Given the description of an element on the screen output the (x, y) to click on. 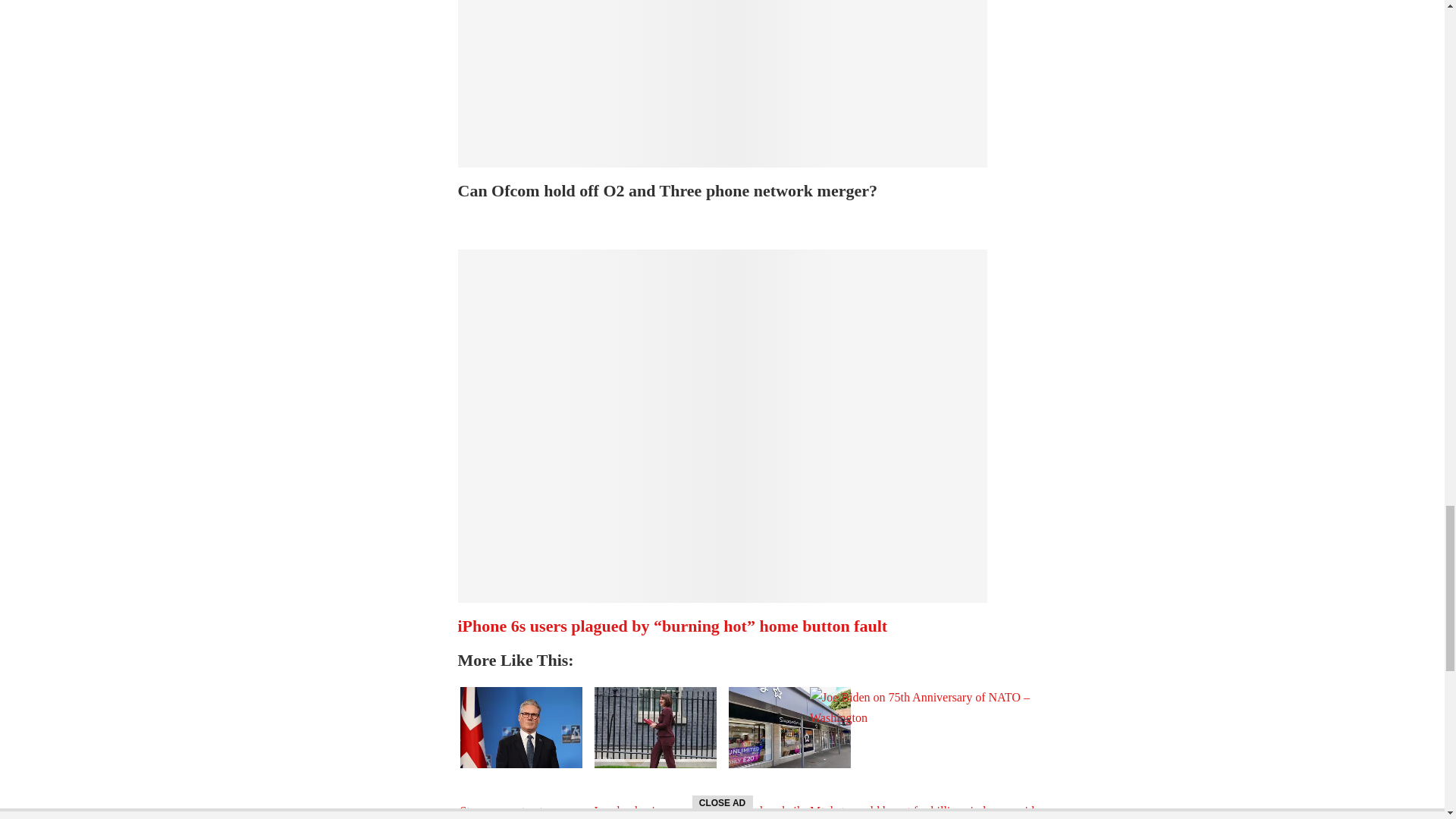
Superdrug hails a strong year as profits soar (789, 727)
